Given the description of an element on the screen output the (x, y) to click on. 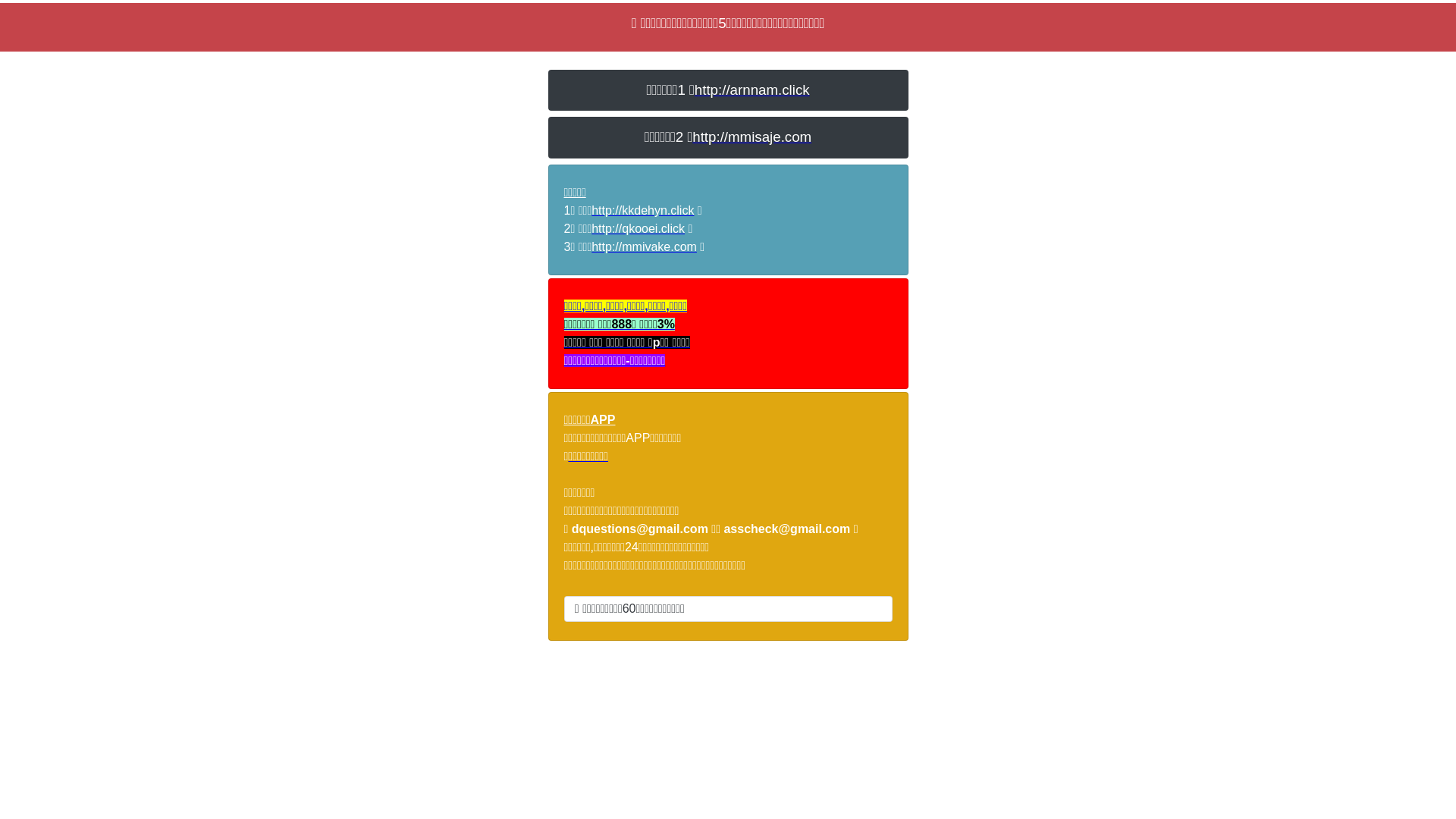
http://arnnam.click Element type: text (751, 89)
http://mmisaje.com Element type: text (751, 136)
http://kkdehyn.click Element type: text (642, 209)
http://qkooei.click Element type: text (637, 228)
http://mmivake.com Element type: text (643, 246)
